Given the description of an element on the screen output the (x, y) to click on. 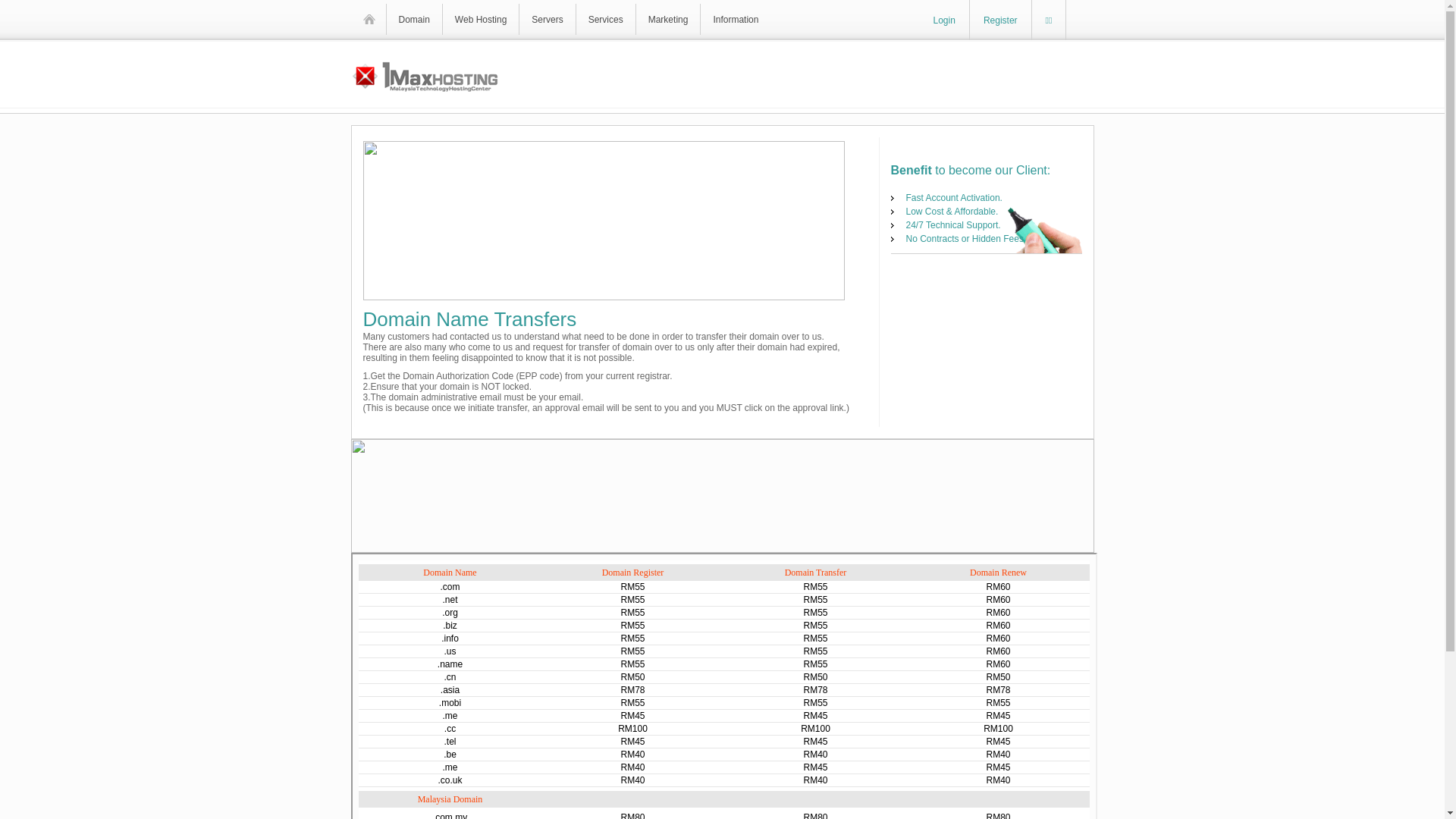
Web Hosting Element type: text (480, 18)
Services Element type: text (605, 18)
Domain Element type: text (414, 18)
Information Element type: text (739, 18)
Servers Element type: text (546, 18)
Marketing Element type: text (668, 18)
Login Element type: text (943, 20)
Register Element type: text (1000, 20)
